Given the description of an element on the screen output the (x, y) to click on. 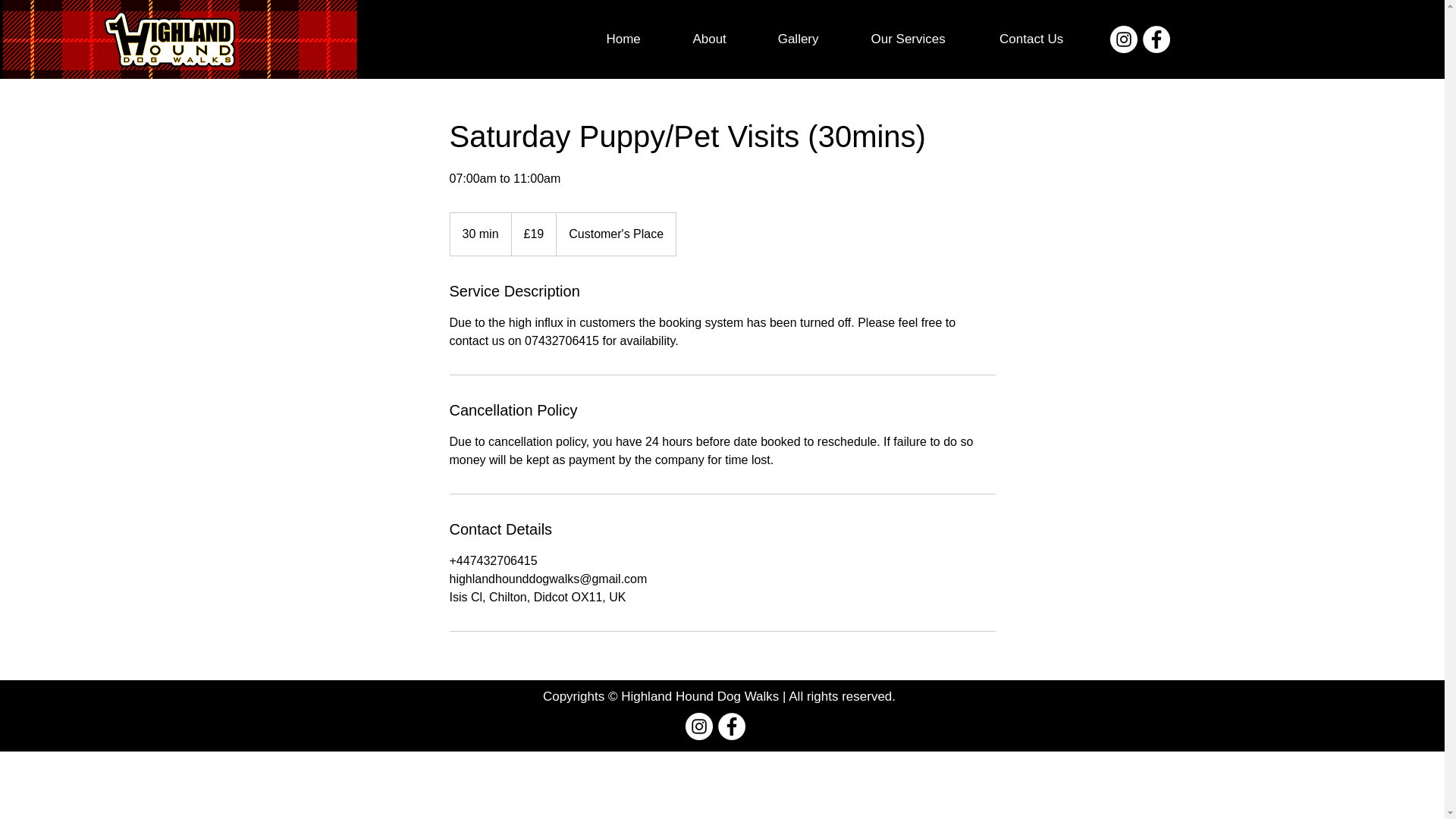
About (709, 39)
Our Services (908, 39)
Gallery (798, 39)
Home (622, 39)
Contact Us (1031, 39)
